Given the description of an element on the screen output the (x, y) to click on. 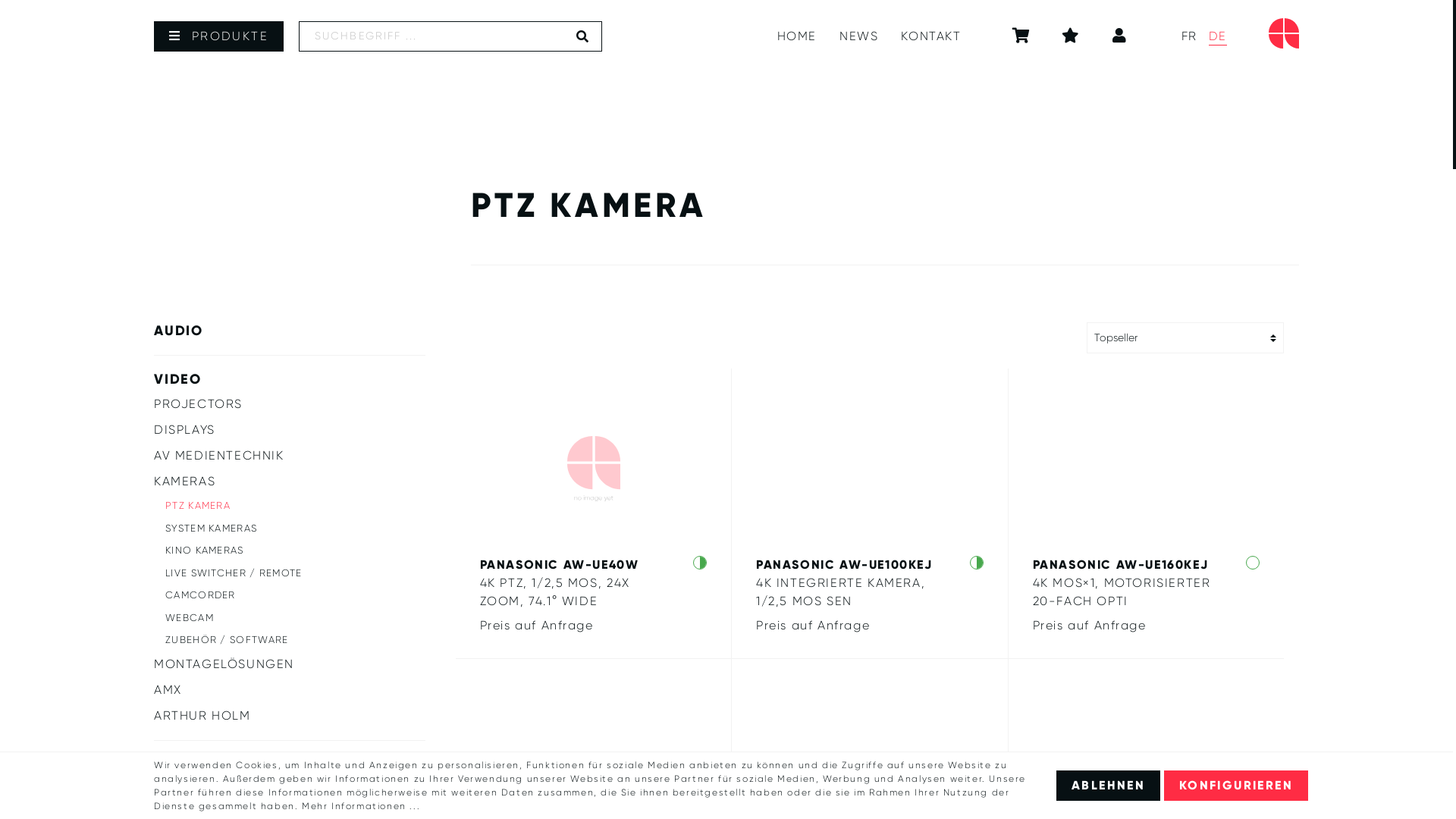
Warenkorb Element type: hover (1022, 36)
HERSTELLER Element type: text (289, 764)
KONTAKT Element type: text (930, 36)
AUDIO Element type: text (289, 330)
Zur Startseite wechseln Element type: hover (1283, 33)
KAMERAS Element type: text (289, 481)
SYSTEM KAMERAS Element type: text (295, 528)
CAMCORDER Element type: text (295, 594)
KINO KAMERAS Element type: text (295, 550)
PTZ KAMERA Element type: text (295, 505)
Wunschlisten Element type: hover (1071, 36)
ABLEHNEN Element type: text (1108, 785)
LIVE SWITCHER / REMOTE Element type: text (295, 572)
PROJECTORS Element type: text (289, 404)
AV MEDIENTECHNIK Element type: text (289, 455)
Mehr Informationen ... Element type: text (360, 805)
NEWS Element type: text (858, 36)
HOME Element type: text (796, 36)
PANASONIC AW-UE100KEJ
4K INTEGRIERTE KAMERA, 1/2,5 MOS SEN Element type: text (870, 581)
VIDEO Element type: text (289, 379)
ARTHUR HOLM Element type: text (289, 715)
DISPLAYS Element type: text (289, 429)
WEBCAM Element type: text (295, 617)
AMX Element type: text (289, 689)
PRODUKTE Element type: text (218, 36)
KONFIGURIEREN Element type: text (1236, 785)
